Given the description of an element on the screen output the (x, y) to click on. 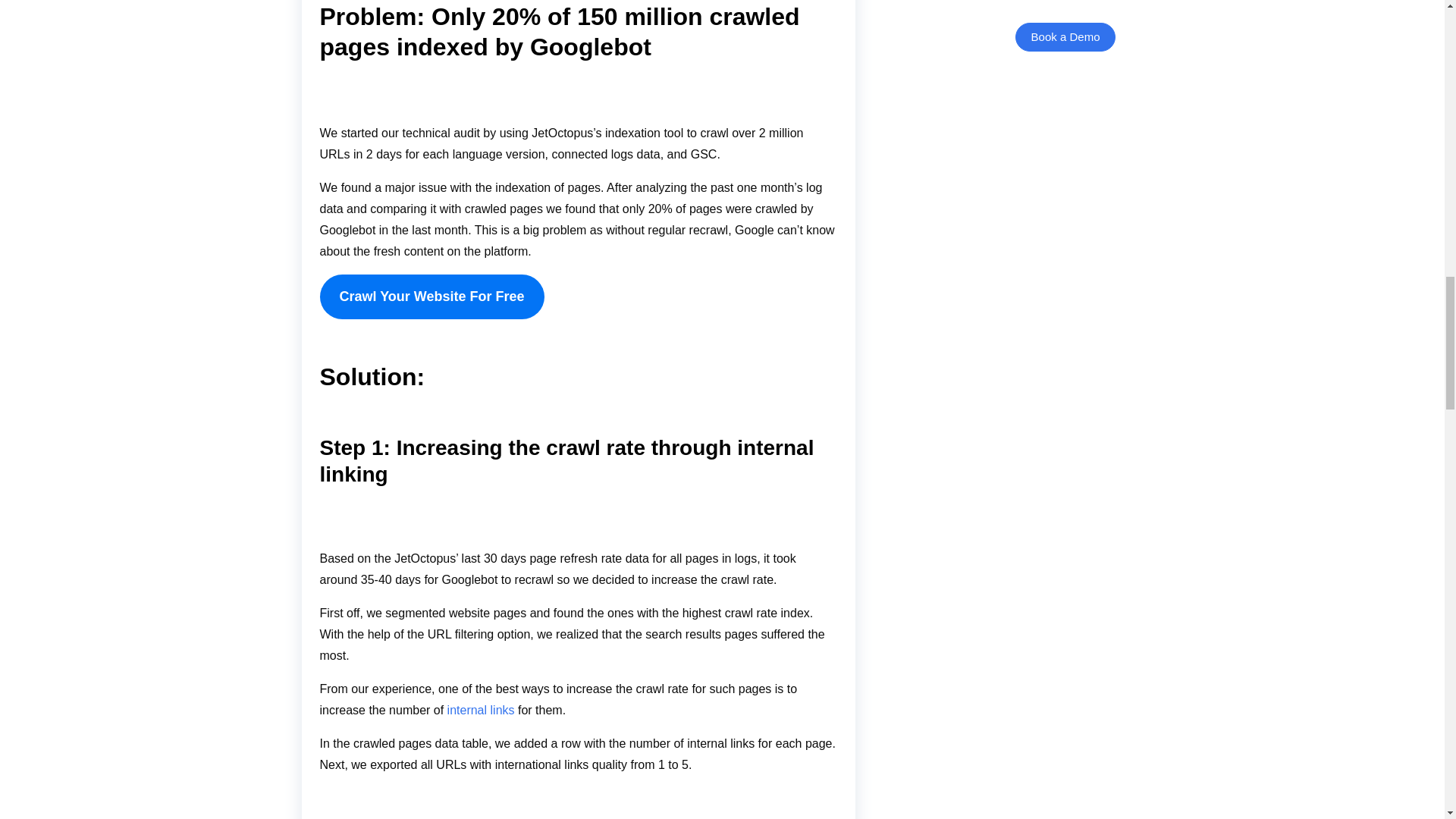
internal links (480, 709)
Crawl Your Website For Free (432, 297)
